Given the description of an element on the screen output the (x, y) to click on. 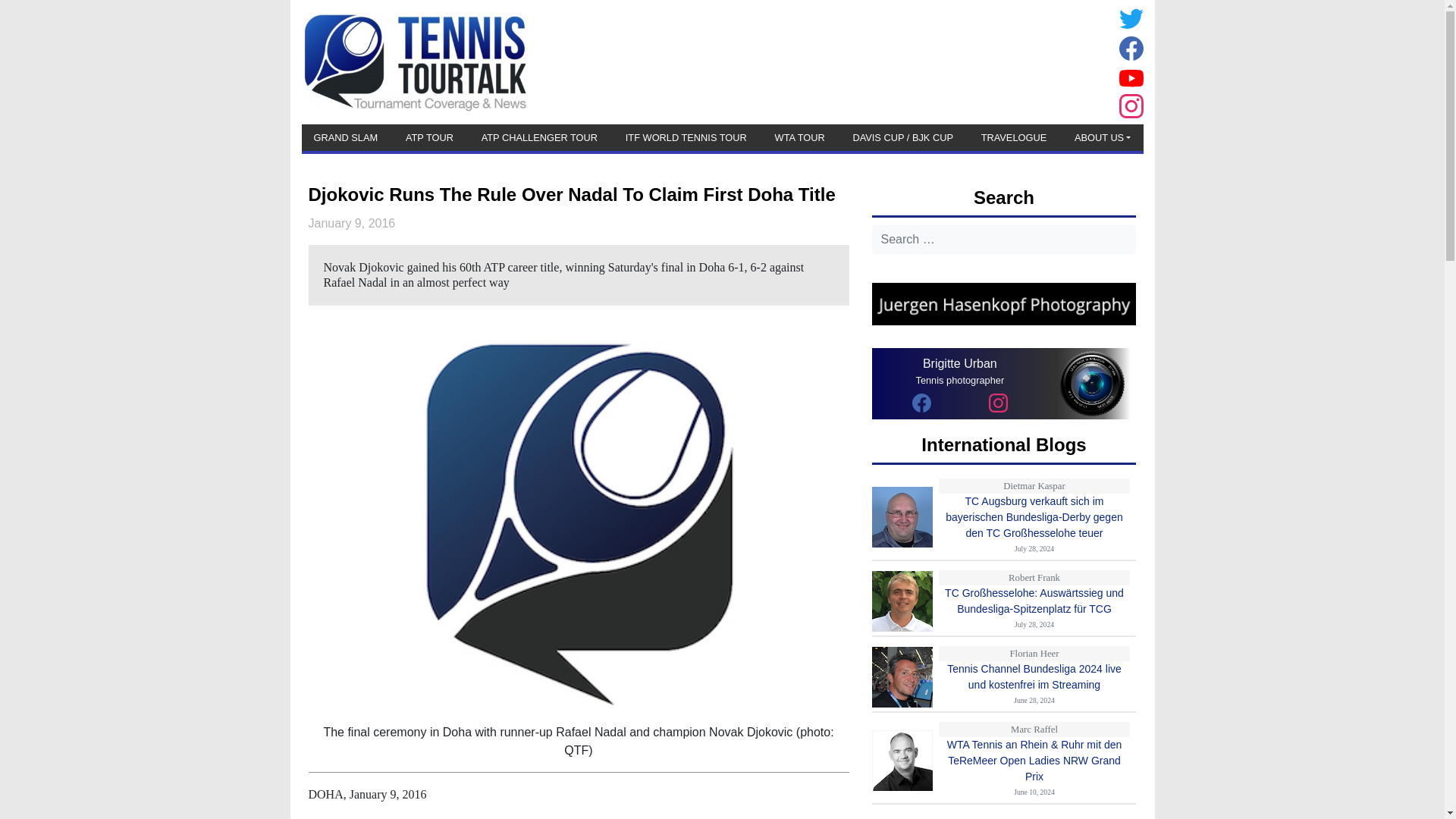
About Us (1102, 137)
ATP TOUR (429, 137)
ATP Challenger Tour (540, 137)
Travelogue (1013, 137)
Tennis TourTalk (414, 60)
ITF World Tennis Tour (686, 137)
Grand Slam (345, 137)
WTA Tour (799, 137)
TRAVELOGUE (1013, 137)
GRAND SLAM (345, 137)
